Given the description of an element on the screen output the (x, y) to click on. 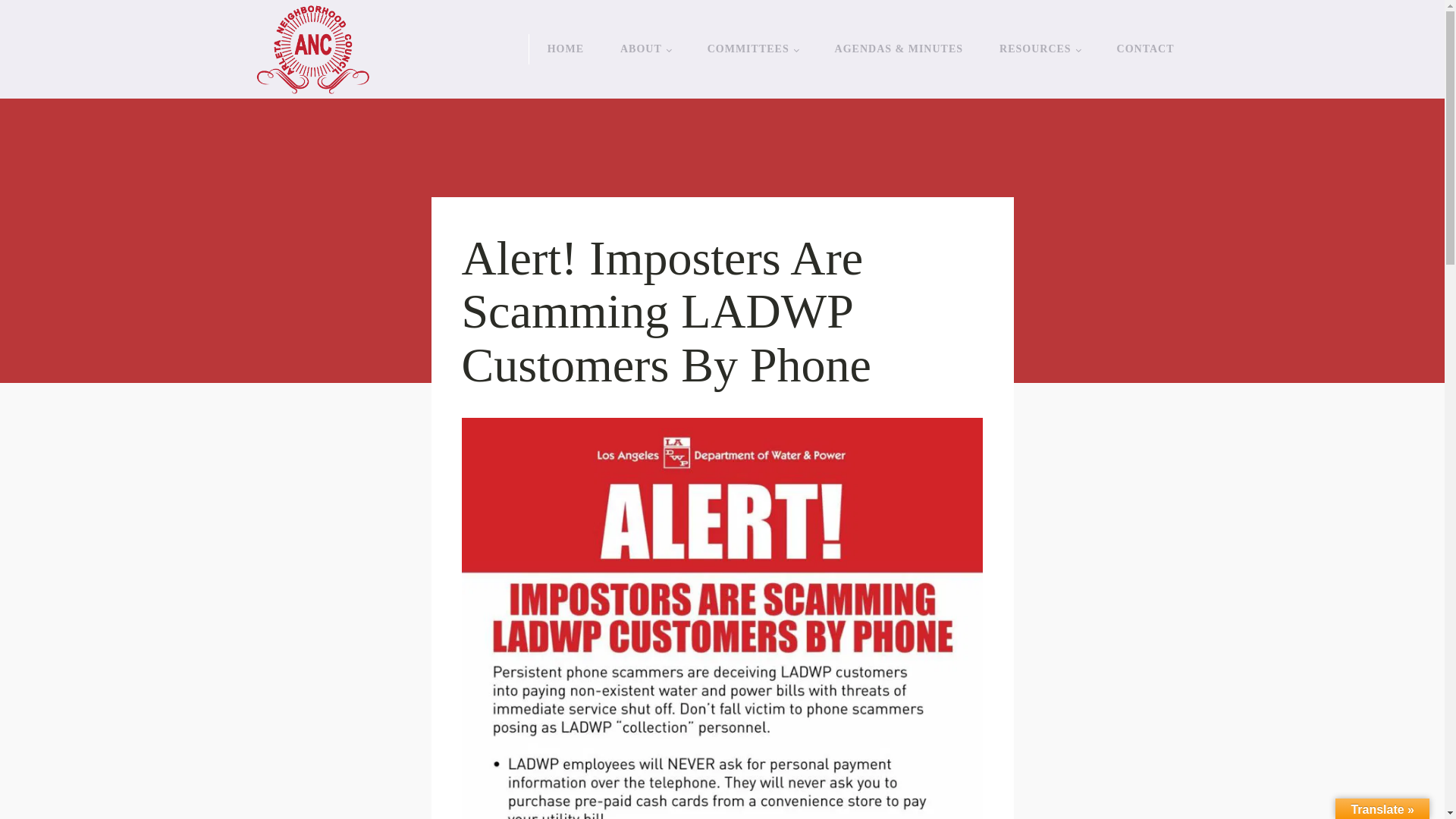
RESOURCES (1039, 49)
ABOUT (645, 49)
CONTACT (1145, 49)
HOME (565, 49)
COMMITTEES (752, 49)
